Given the description of an element on the screen output the (x, y) to click on. 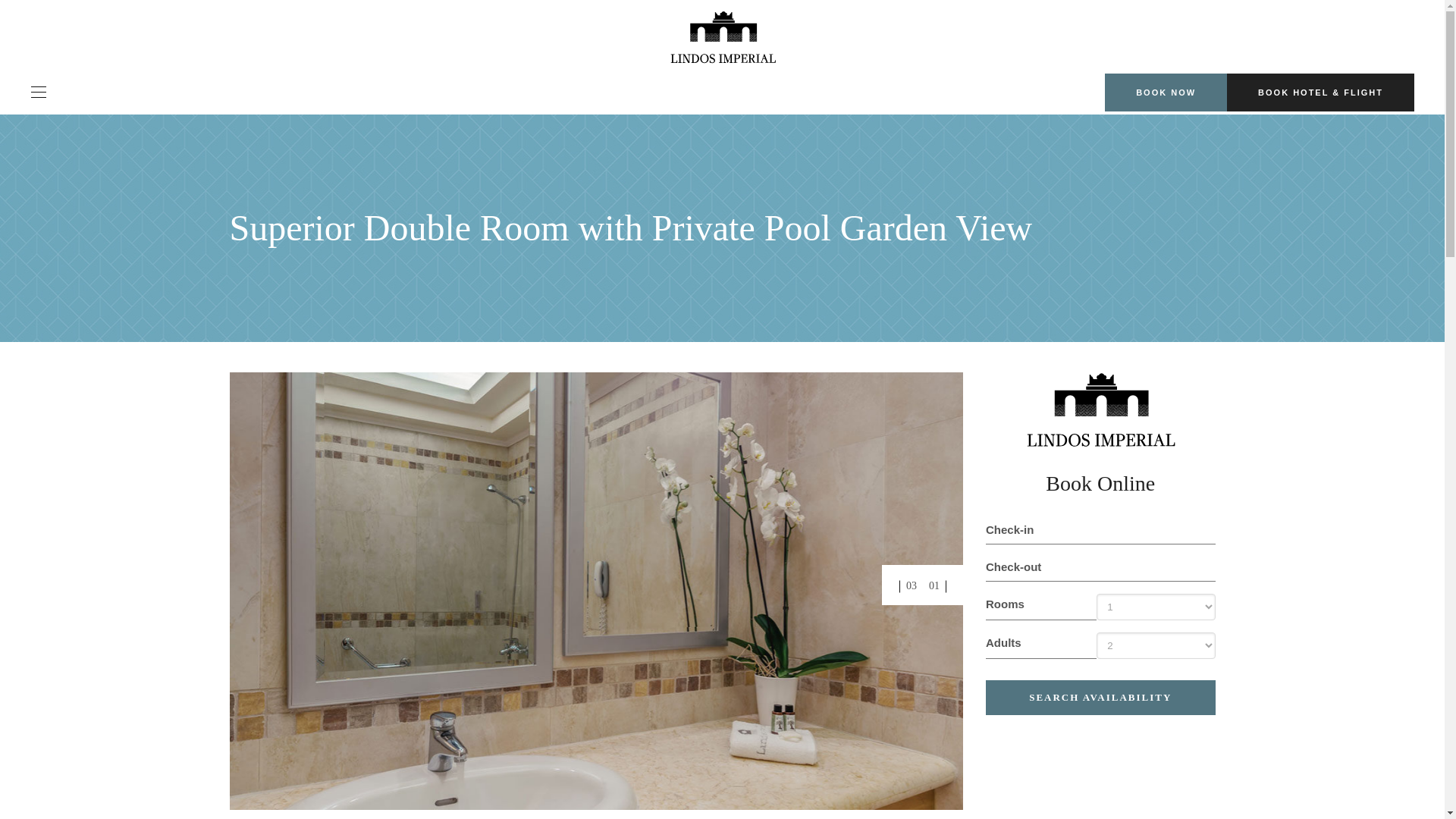
BOOK NOW (1166, 92)
